Given the description of an element on the screen output the (x, y) to click on. 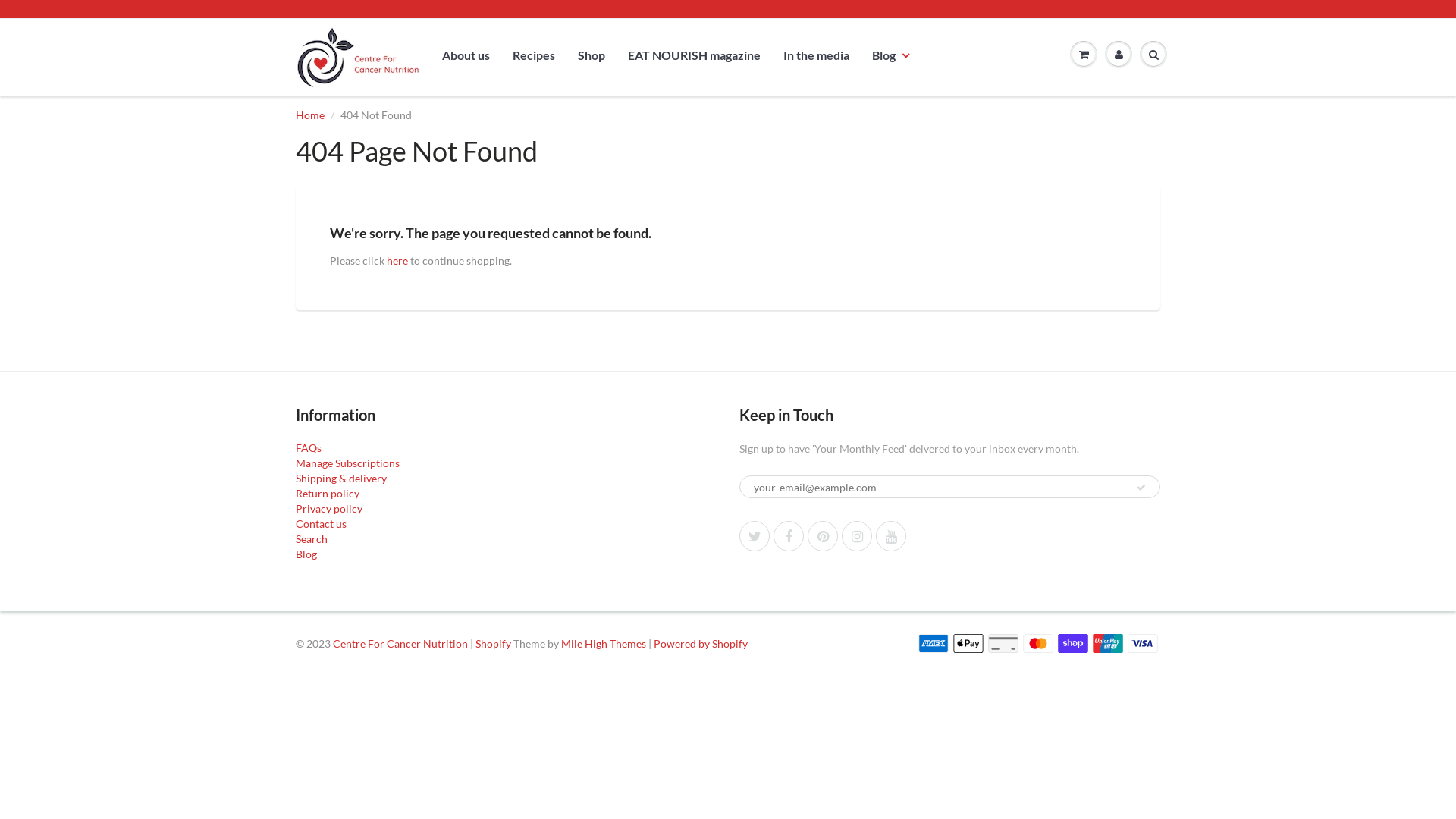
Shop Element type: text (591, 55)
Shopify Element type: text (493, 643)
Shipping & delivery Element type: text (340, 477)
Twitter Element type: hover (754, 535)
In the media Element type: text (815, 55)
Pinterest Element type: hover (822, 535)
Manage Subscriptions Element type: text (347, 462)
Privacy policy Element type: text (328, 508)
Powered by Shopify Element type: text (700, 643)
Facebook Element type: hover (788, 535)
Mile High Themes Element type: text (603, 643)
Blog Element type: text (890, 55)
Home Element type: text (309, 114)
Blog Element type: text (305, 553)
Return policy Element type: text (327, 492)
Search Element type: text (311, 538)
Instagram Element type: hover (856, 535)
About us Element type: text (465, 55)
Recipes Element type: text (533, 55)
Subscribe Element type: text (1140, 487)
Contact us Element type: text (320, 523)
Centre For Cancer Nutrition Element type: text (399, 643)
YouTube Element type: hover (890, 535)
here Element type: text (396, 260)
FAQs Element type: text (308, 447)
EAT NOURISH magazine Element type: text (693, 55)
